Given the description of an element on the screen output the (x, y) to click on. 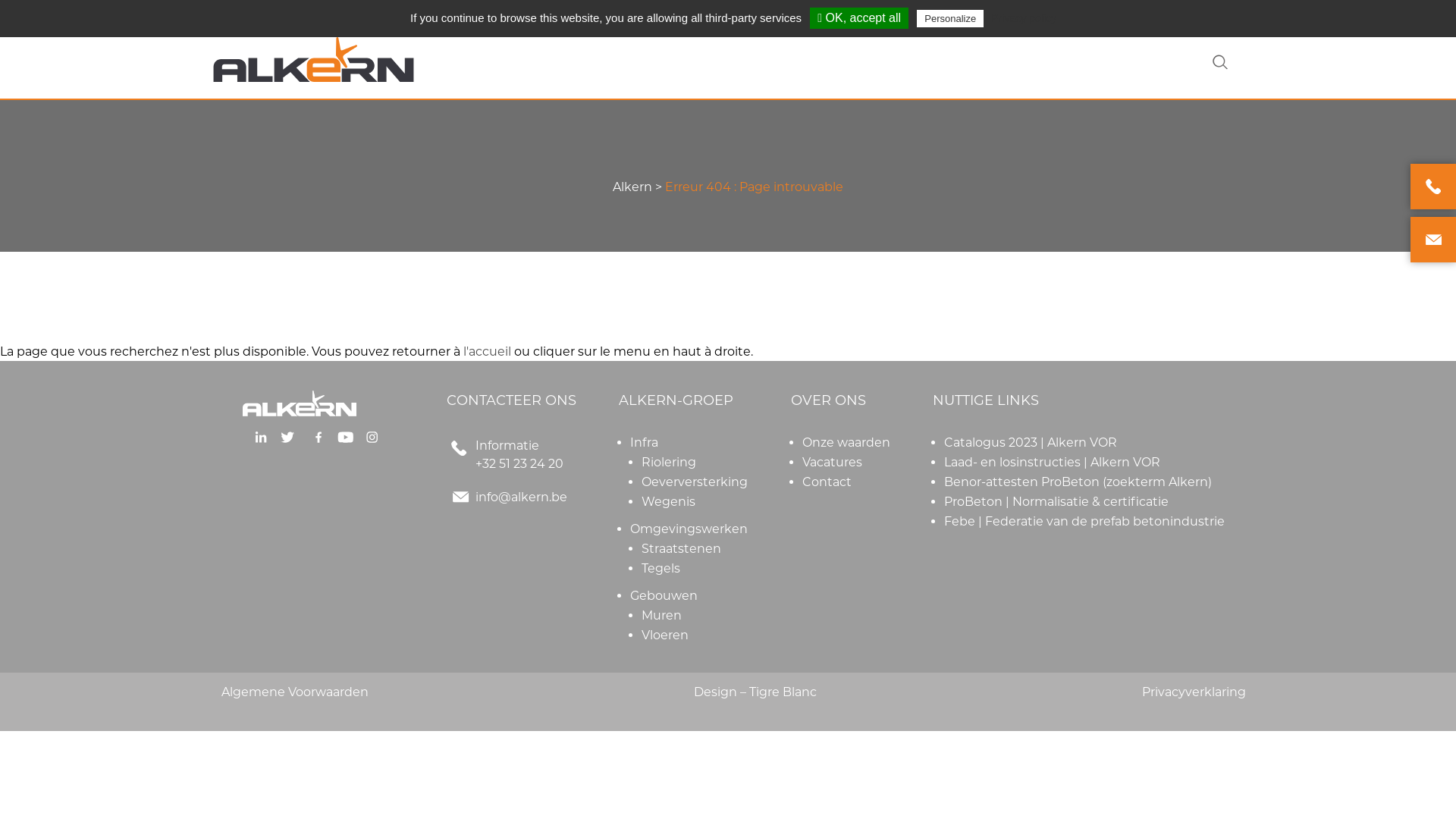
Riolering Element type: text (668, 462)
Febe | Federatie van de prefab betonindustrie Element type: text (1084, 521)
Tegels Element type: text (660, 568)
Omgevingswerken Element type: text (688, 528)
info@alkern.be Element type: text (521, 497)
Contact Element type: text (826, 481)
NL Element type: text (1207, 13)
+32 51 23 24 20 Element type: text (519, 463)
Vacatures Element type: text (832, 462)
VACATURES Element type: text (1117, 10)
Wegenis Element type: text (668, 501)
Privacyverklaring Element type: text (1193, 691)
l'accueil Element type: text (487, 351)
Laad- en losinstructies | Alkern VOR Element type: text (1052, 462)
Gebouwen Element type: text (663, 595)
Benor-attesten ProBeton (zoekterm Alkern) Element type: text (1077, 481)
Vloeren Element type: text (664, 634)
ONZE WAARDEN Element type: text (910, 10)
Infra Element type: text (644, 442)
Alkern Element type: text (632, 186)
Straatstenen Element type: text (681, 548)
Muren Element type: text (661, 615)
CONTACT Element type: text (1021, 10)
Privacy policy Element type: text (1023, 18)
Oeverversterking Element type: text (694, 481)
Personalize Element type: text (949, 18)
Onze waarden Element type: text (846, 442)
Catalogus 2023 | Alkern VOR Element type: text (1030, 442)
Algemene Voorwaarden Element type: text (294, 691)
ProBeton | Normalisatie & certificatie Element type: text (1056, 501)
